Given the description of an element on the screen output the (x, y) to click on. 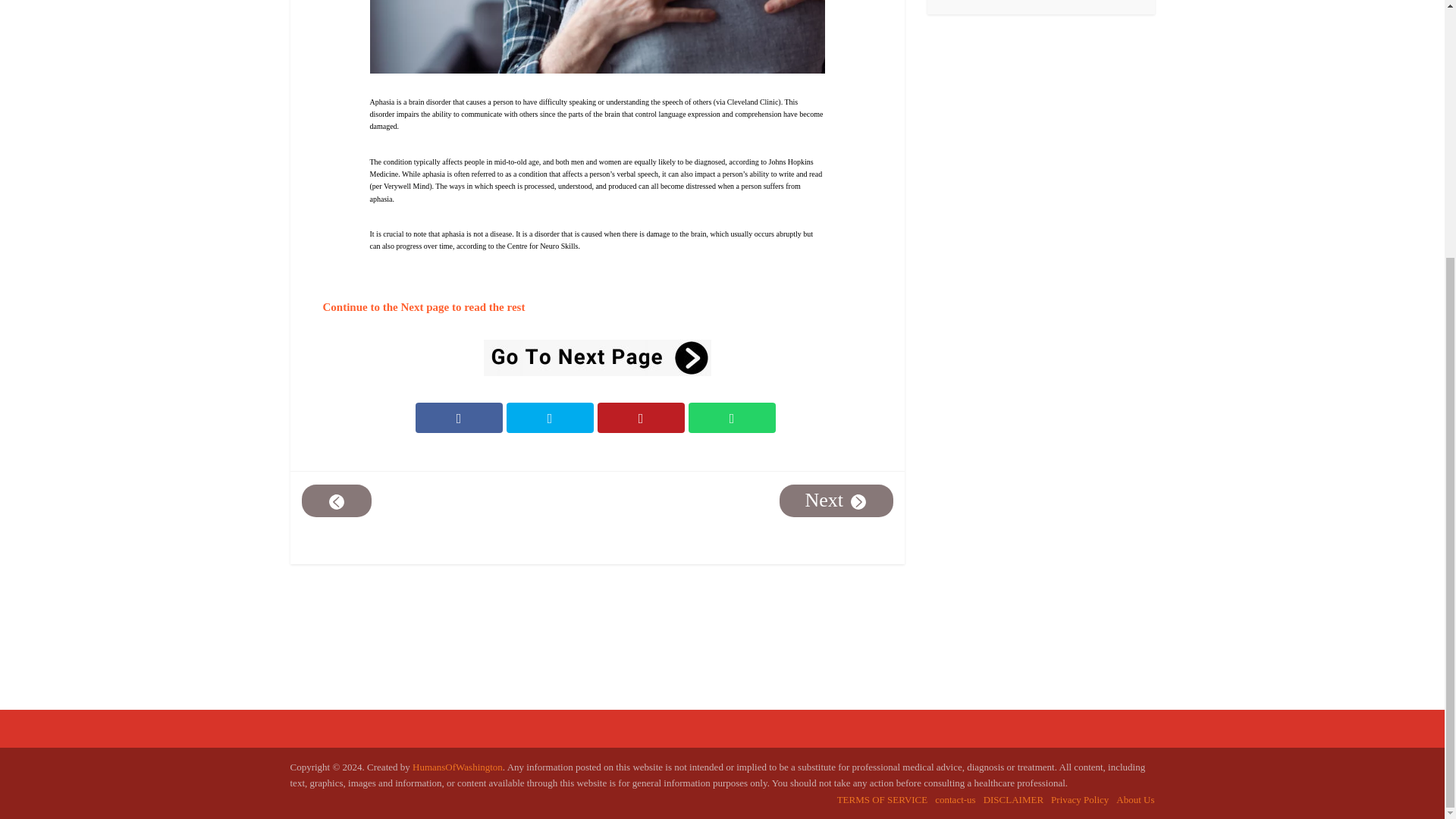
Next (835, 500)
